Given the description of an element on the screen output the (x, y) to click on. 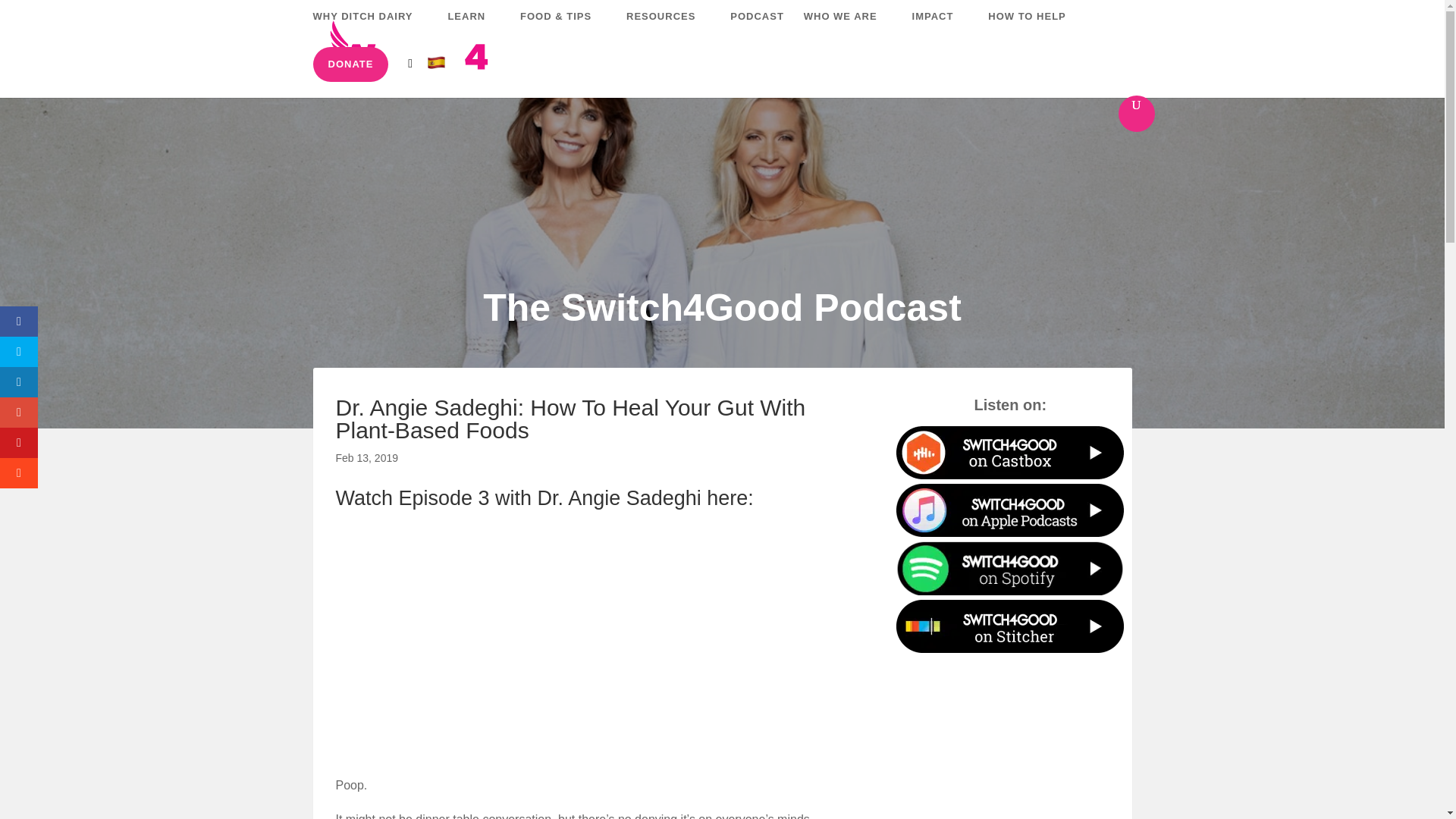
LEARN (473, 28)
PODCAST (757, 28)
WHY DITCH DAIRY (370, 28)
WHO WE ARE (847, 28)
RESOURCES (668, 28)
